Given the description of an element on the screen output the (x, y) to click on. 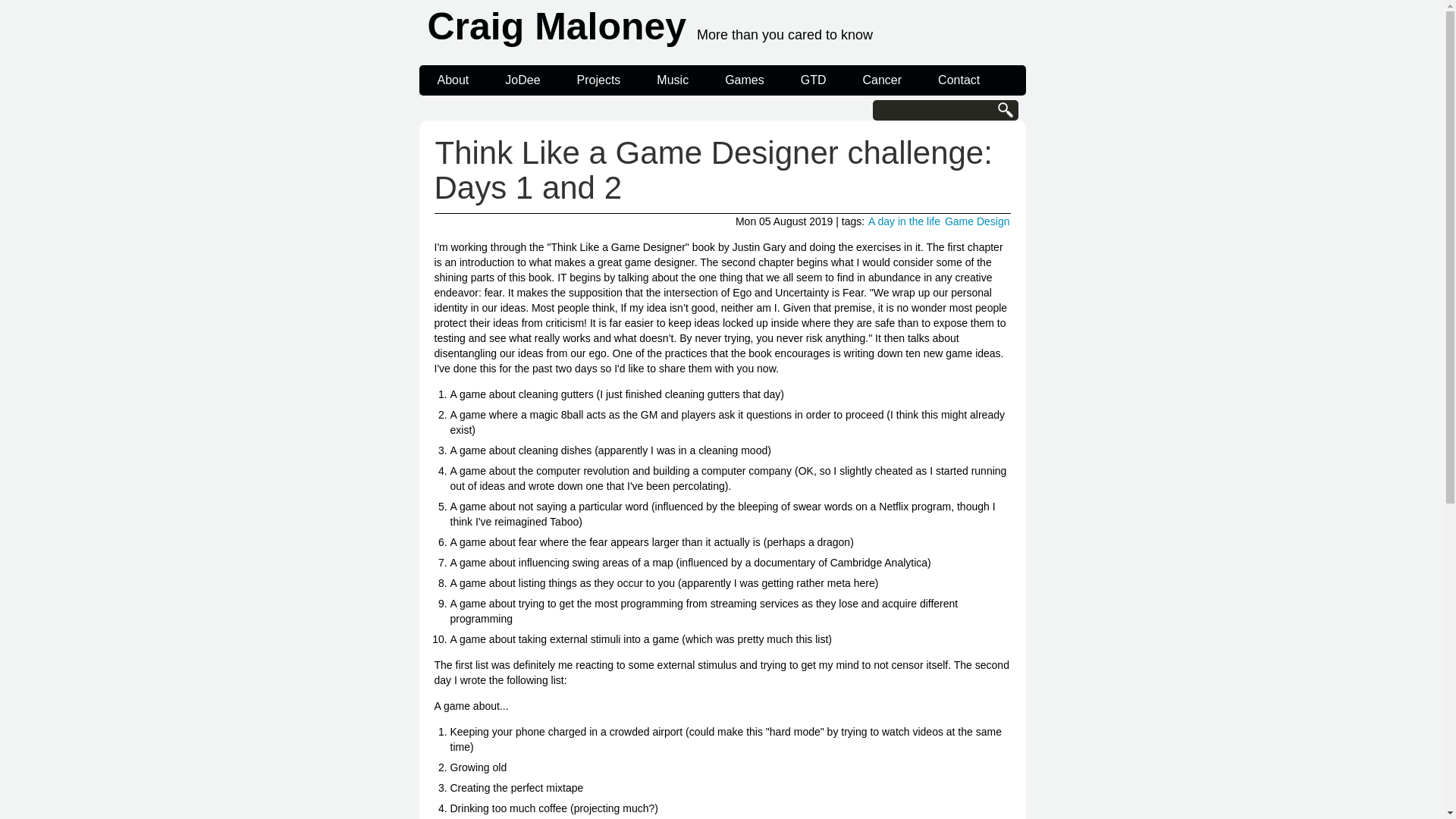
GTD (813, 80)
Think Like a Game Designer challenge: Days 1 and 2 (712, 170)
A day in the life (903, 221)
Projects (599, 80)
Cancer (882, 80)
Game Design (976, 221)
Craig Maloney More than you cared to know (725, 30)
Contact (958, 80)
Music (672, 80)
